Given the description of an element on the screen output the (x, y) to click on. 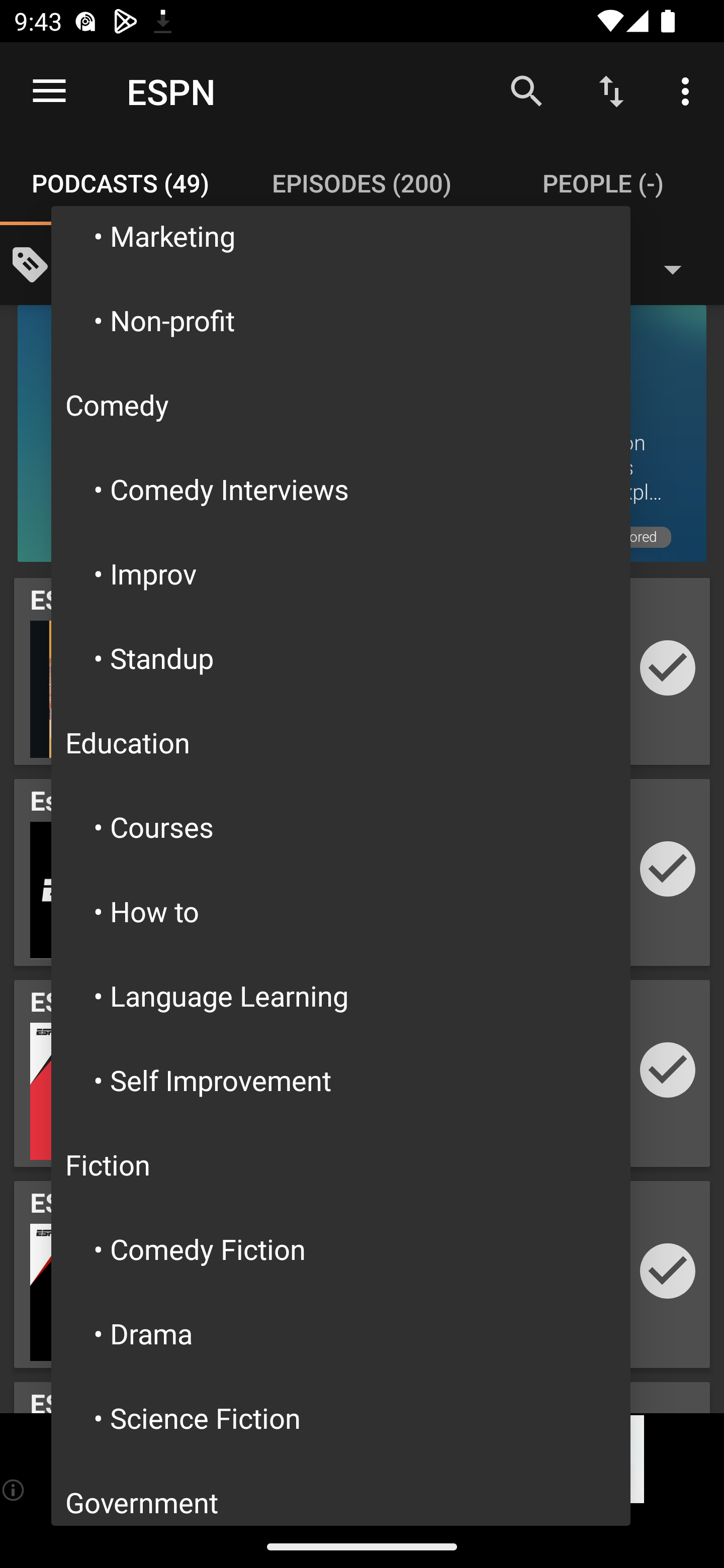
    • Marketing (340, 241)
    • Non-profit (340, 319)
Comedy (340, 404)
    • Comedy Interviews (340, 488)
    • Improv (340, 573)
    • Standup (340, 657)
Education (340, 741)
    • Courses (340, 826)
    • How to (340, 910)
    • Language Learning (340, 995)
    • Self Improvement (340, 1080)
Fiction (340, 1164)
    • Comedy Fiction (340, 1248)
    • Drama (340, 1332)
    • Science Fiction (340, 1417)
Government (340, 1492)
